Given the description of an element on the screen output the (x, y) to click on. 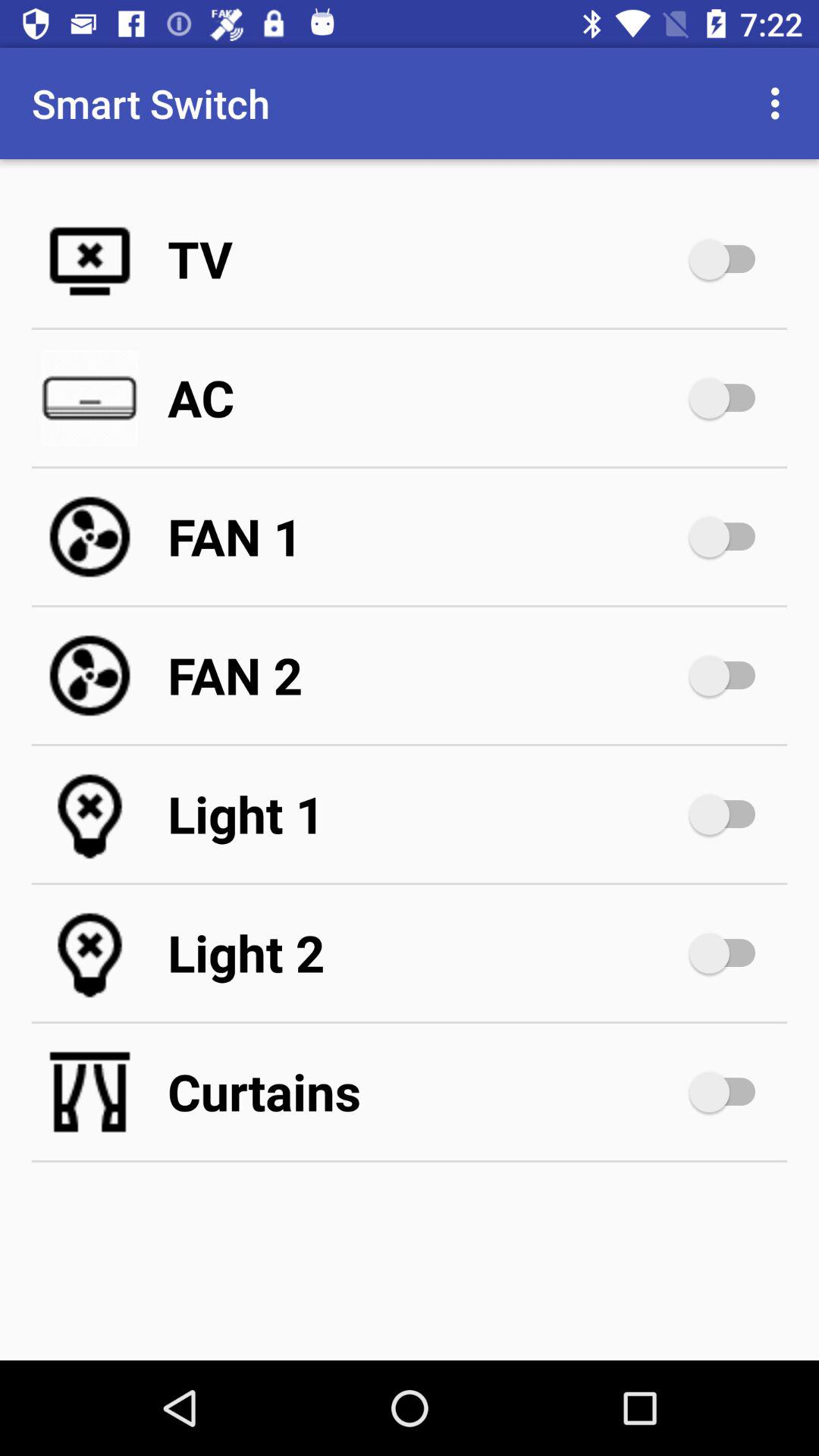
turn on (729, 675)
